Given the description of an element on the screen output the (x, y) to click on. 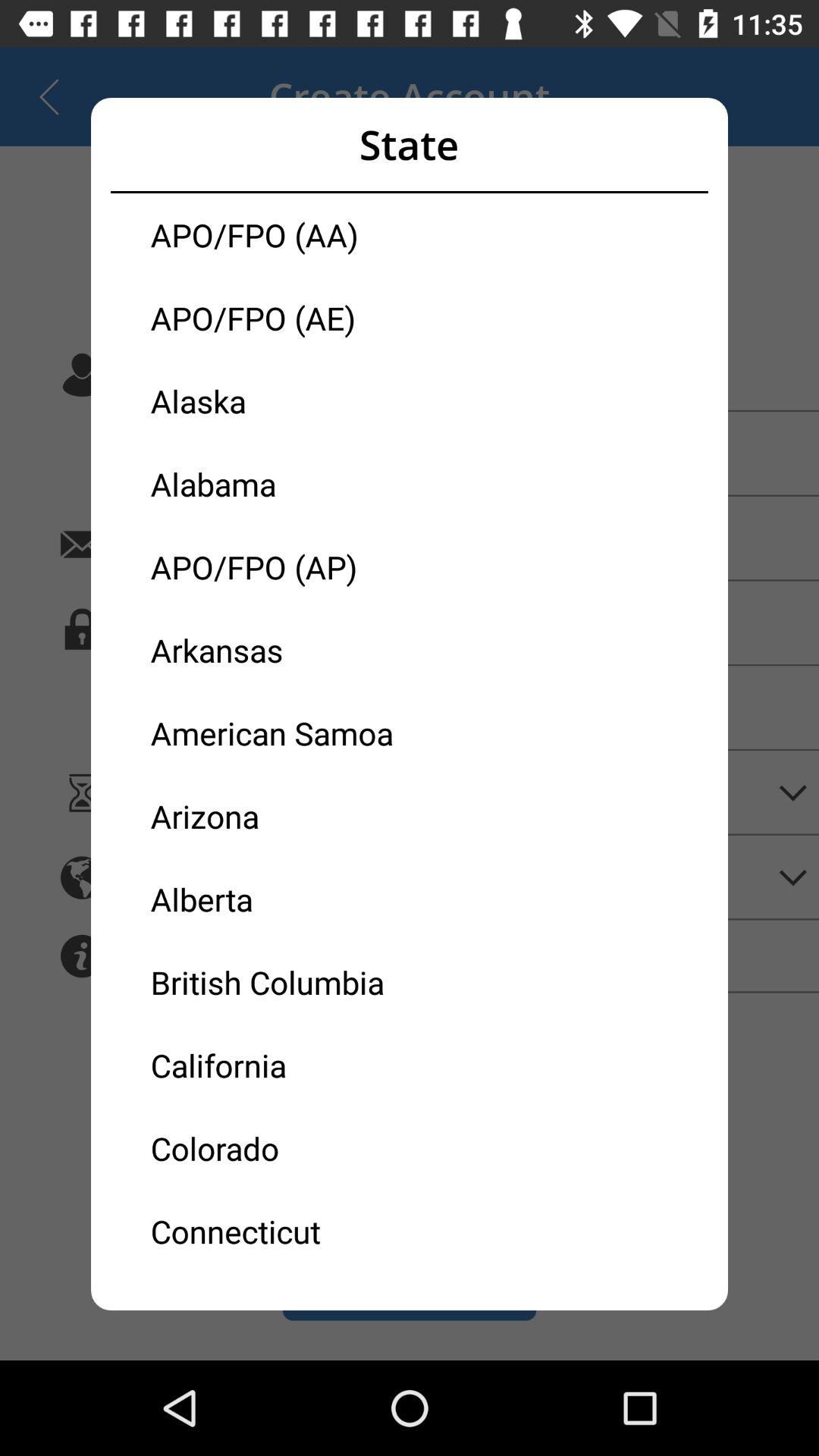
click the item above the american samoa item (279, 649)
